Given the description of an element on the screen output the (x, y) to click on. 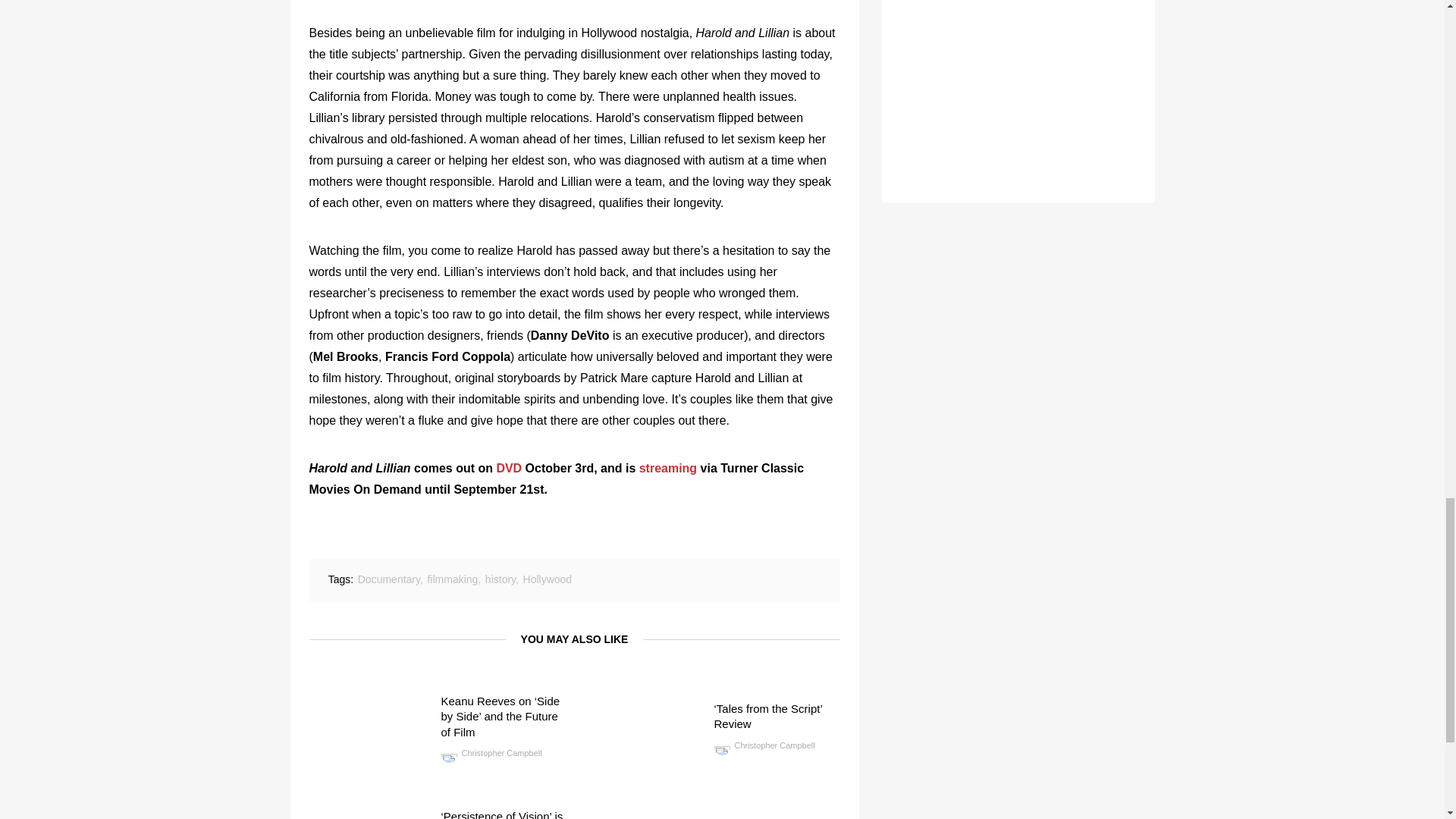
history (499, 579)
Christopher Campbell (764, 745)
filmmaking (451, 579)
Documentary (389, 579)
DVD (508, 468)
streaming (668, 468)
Hollywood (547, 579)
Christopher Campbell (491, 752)
